Given the description of an element on the screen output the (x, y) to click on. 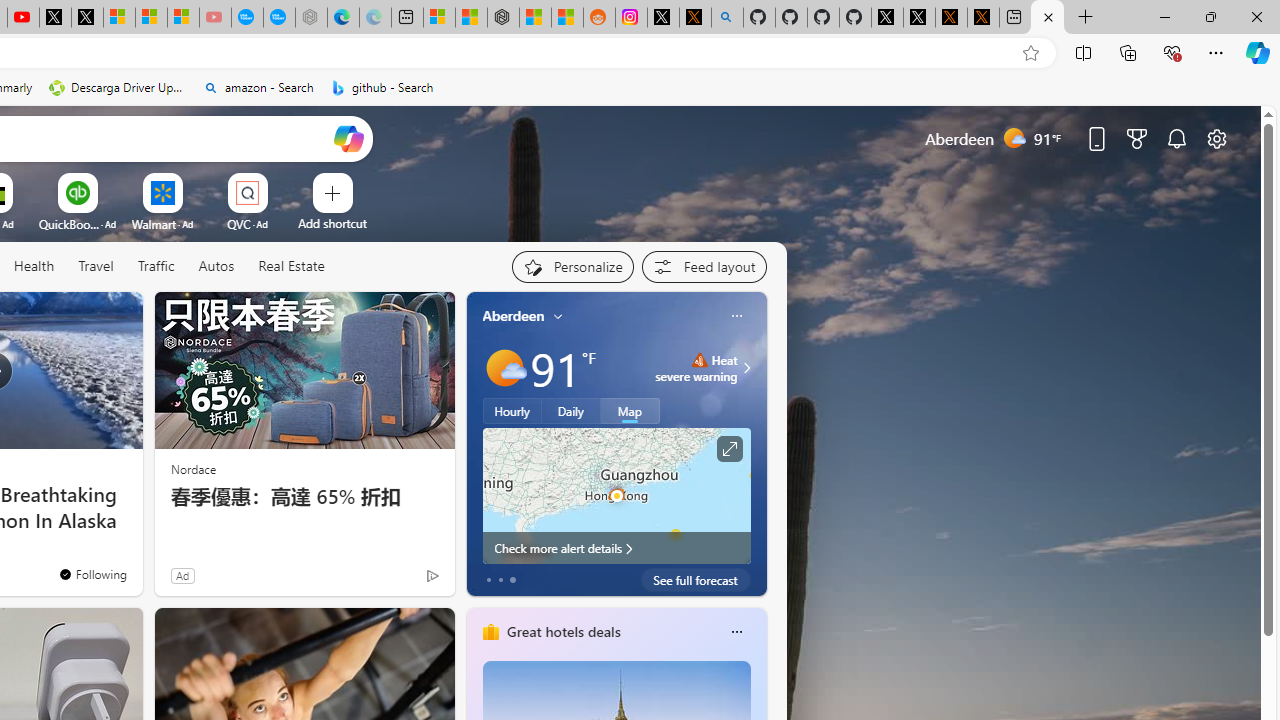
Microsoft rewards (1137, 138)
Autos (216, 267)
Descarga Driver Updater (118, 88)
See full forecast (695, 579)
Mostly sunny (504, 368)
github - Search (381, 88)
Travel (95, 267)
The most popular Google 'how to' searches (279, 17)
